Given the description of an element on the screen output the (x, y) to click on. 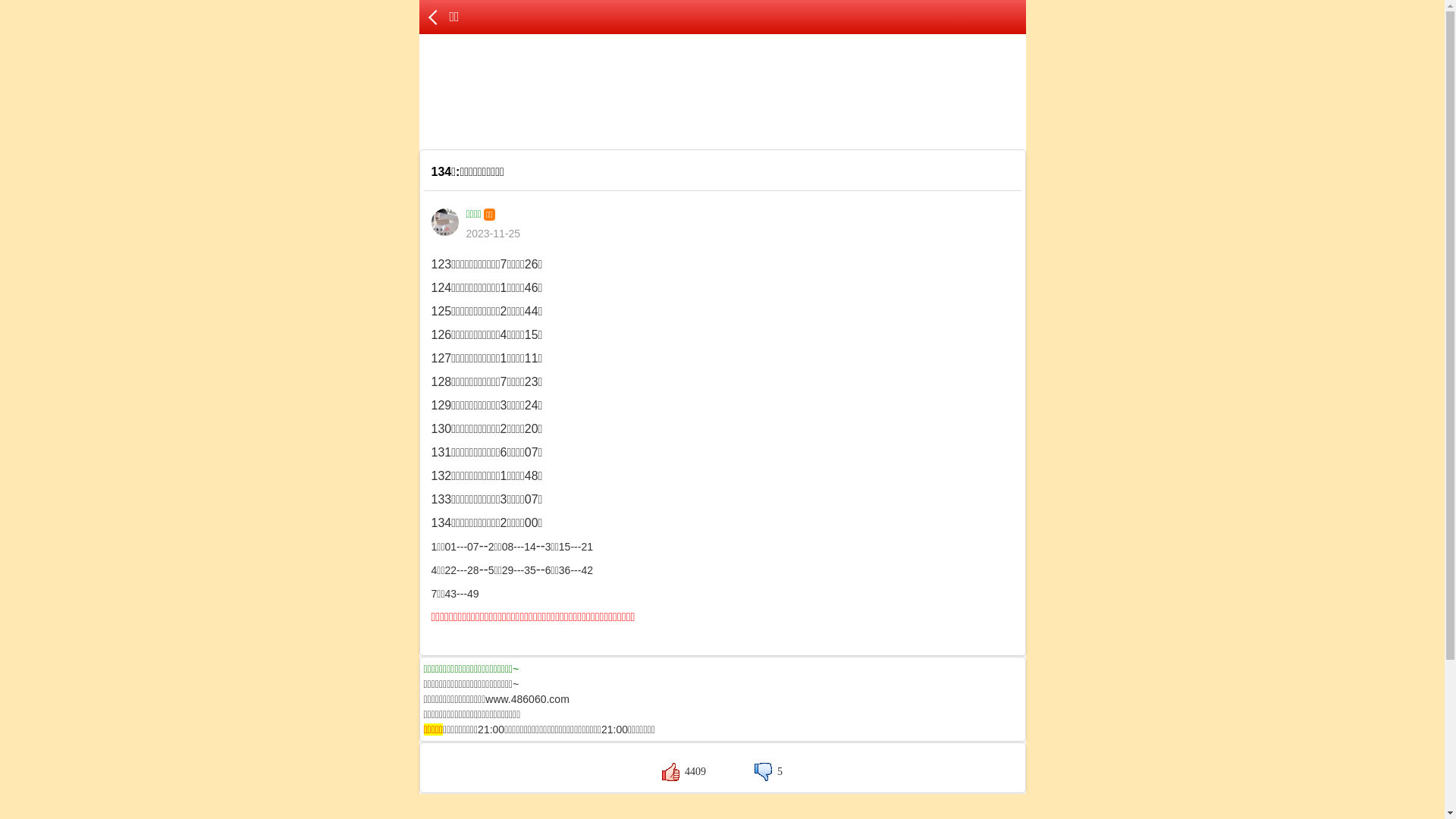
4409 Element type: text (684, 771)
5 Element type: text (768, 771)
